Given the description of an element on the screen output the (x, y) to click on. 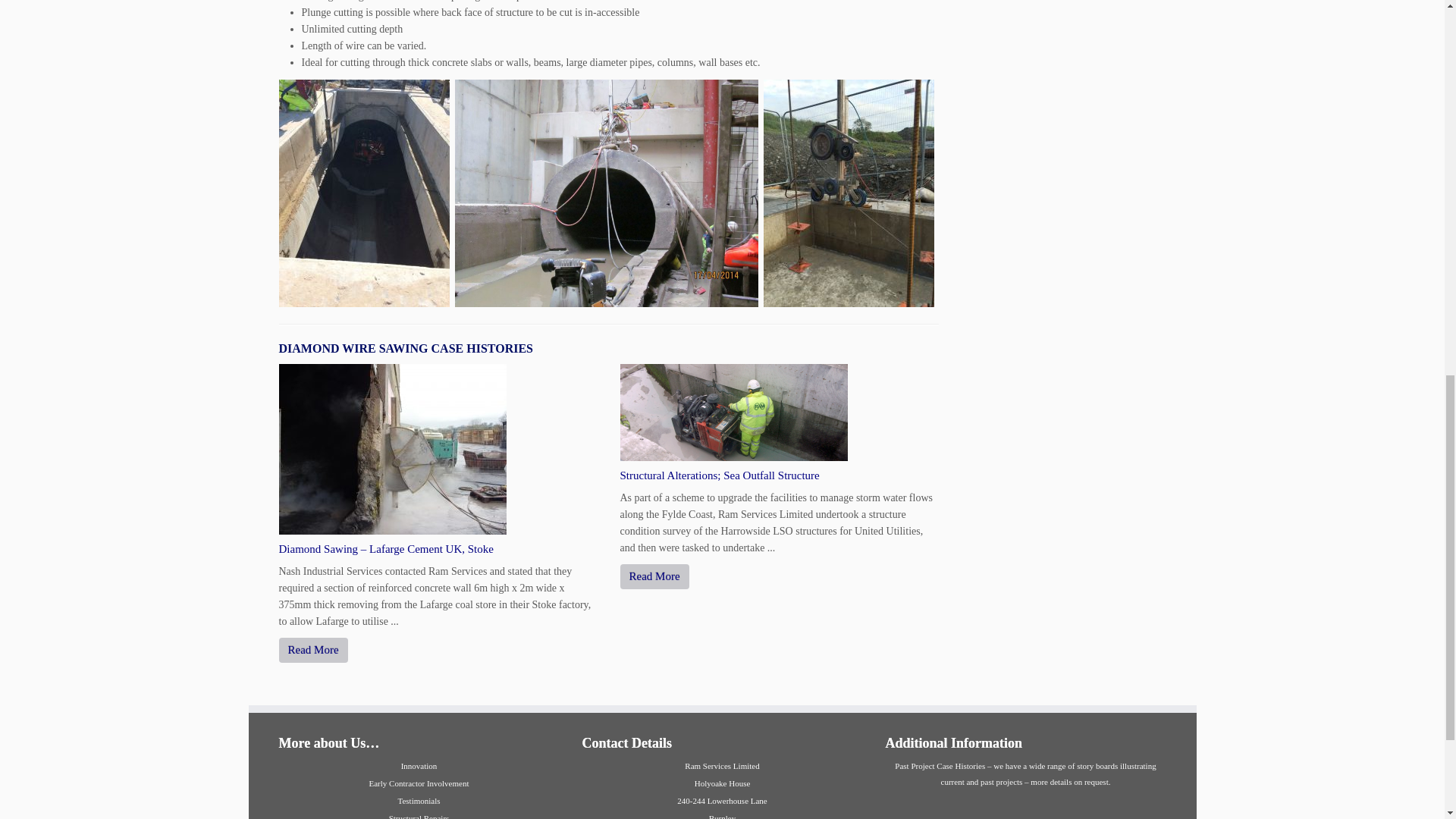
Innovation (419, 765)
Ram Services Limited - Diamond Wire Sawing (364, 191)
Structural Alterations; Sea Outfall Structure (719, 475)
Ram Services Limited - Diamond Wire Sawing (847, 191)
Read More (313, 650)
Read More (654, 576)
Early Contractor Involvement (418, 782)
Ram Services Limited - Diamond Wire Sawing (606, 191)
